Given the description of an element on the screen output the (x, y) to click on. 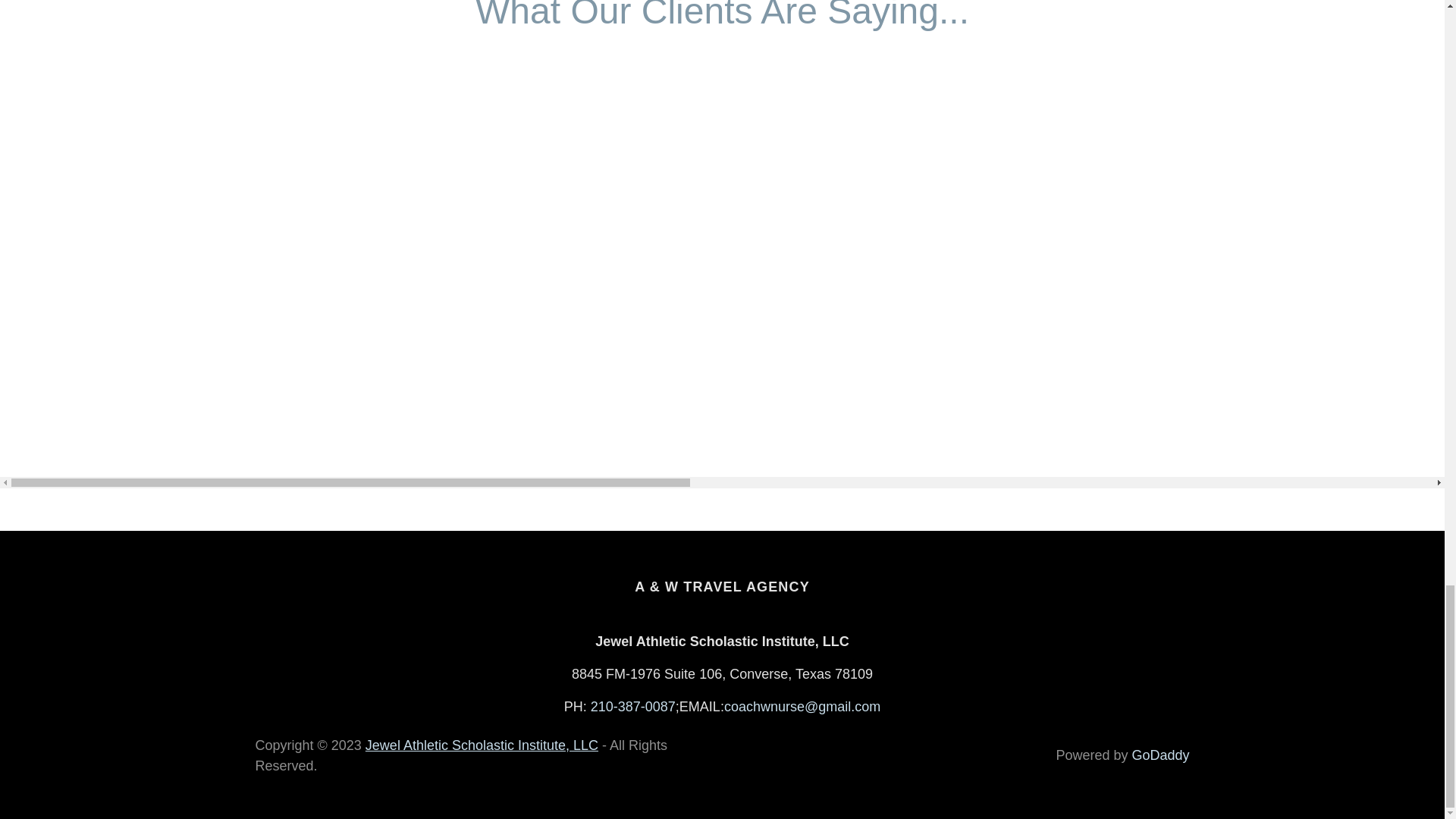
Jewel Athletic Scholastic Institute, LLC (481, 744)
210-387-0087 (633, 705)
GoDaddy (1160, 754)
